Given the description of an element on the screen output the (x, y) to click on. 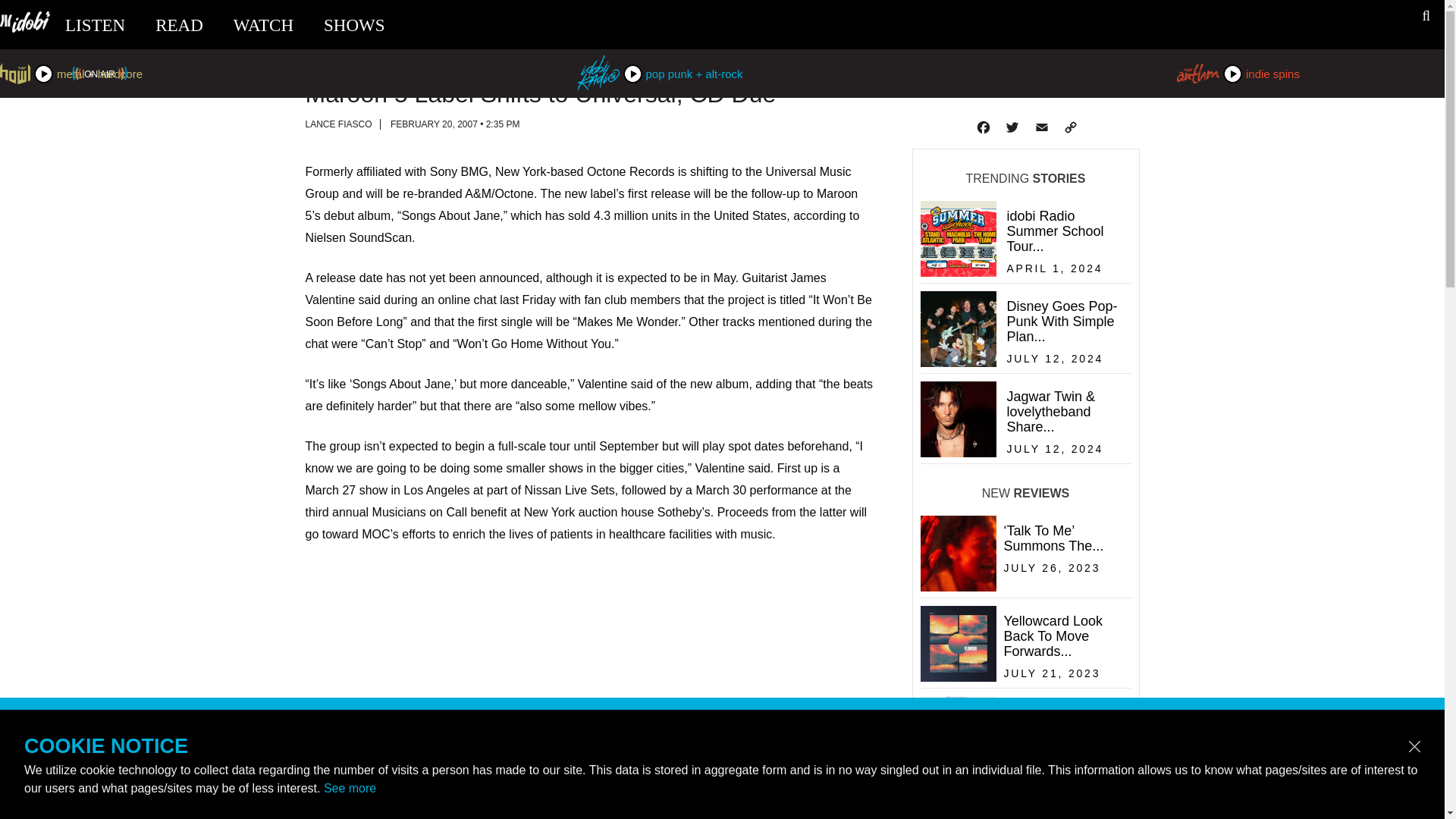
Email (1040, 126)
SHOWS (354, 24)
Copy Link (1069, 126)
WATCH (263, 24)
READ (179, 24)
LISTEN (95, 24)
Facebook (1023, 363)
LANCE FIASCO (982, 126)
Lance Fiasco (1022, 767)
Twitter (1023, 272)
